Given the description of an element on the screen output the (x, y) to click on. 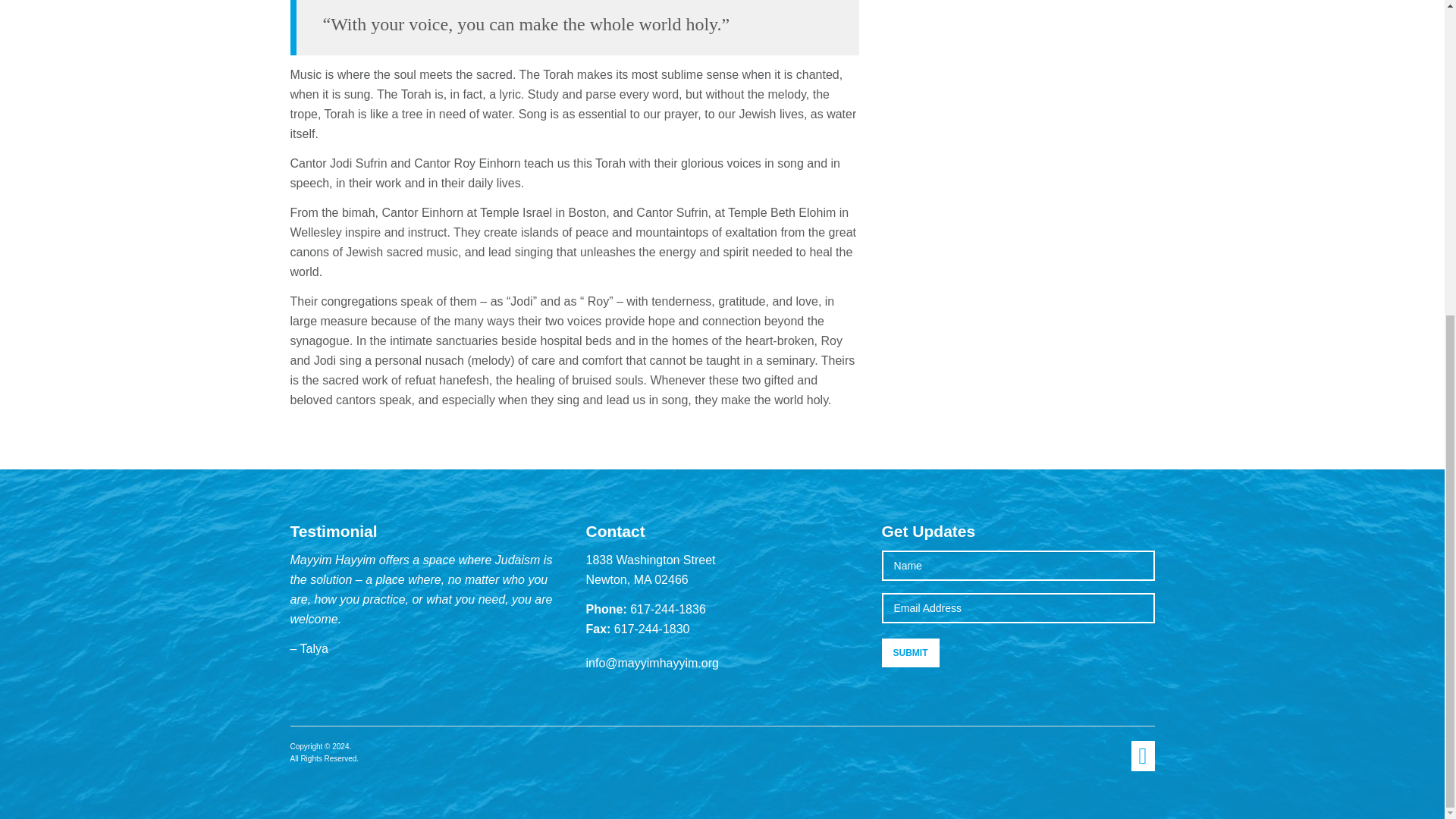
Submit (910, 652)
